Given the description of an element on the screen output the (x, y) to click on. 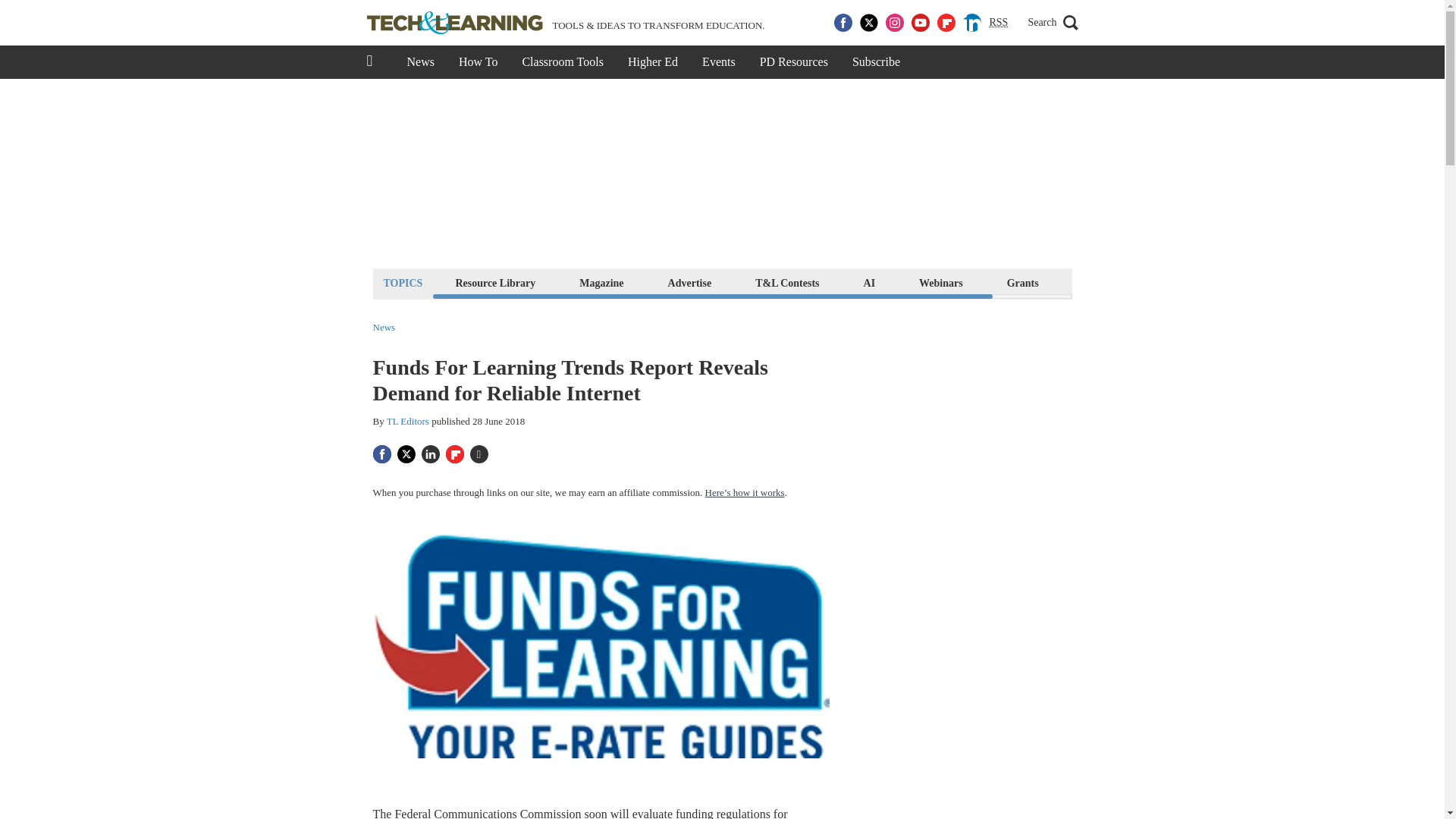
Subscribe (876, 61)
Magazine (600, 282)
How To (477, 61)
News (384, 327)
Webinars (941, 282)
News (419, 61)
Higher Ed (652, 61)
TL Editors (408, 420)
Grants (1022, 282)
Events (719, 61)
Advertise (689, 282)
Really Simple Syndication (997, 21)
PD Resources (794, 61)
What to Buy (1111, 282)
AI (869, 282)
